Given the description of an element on the screen output the (x, y) to click on. 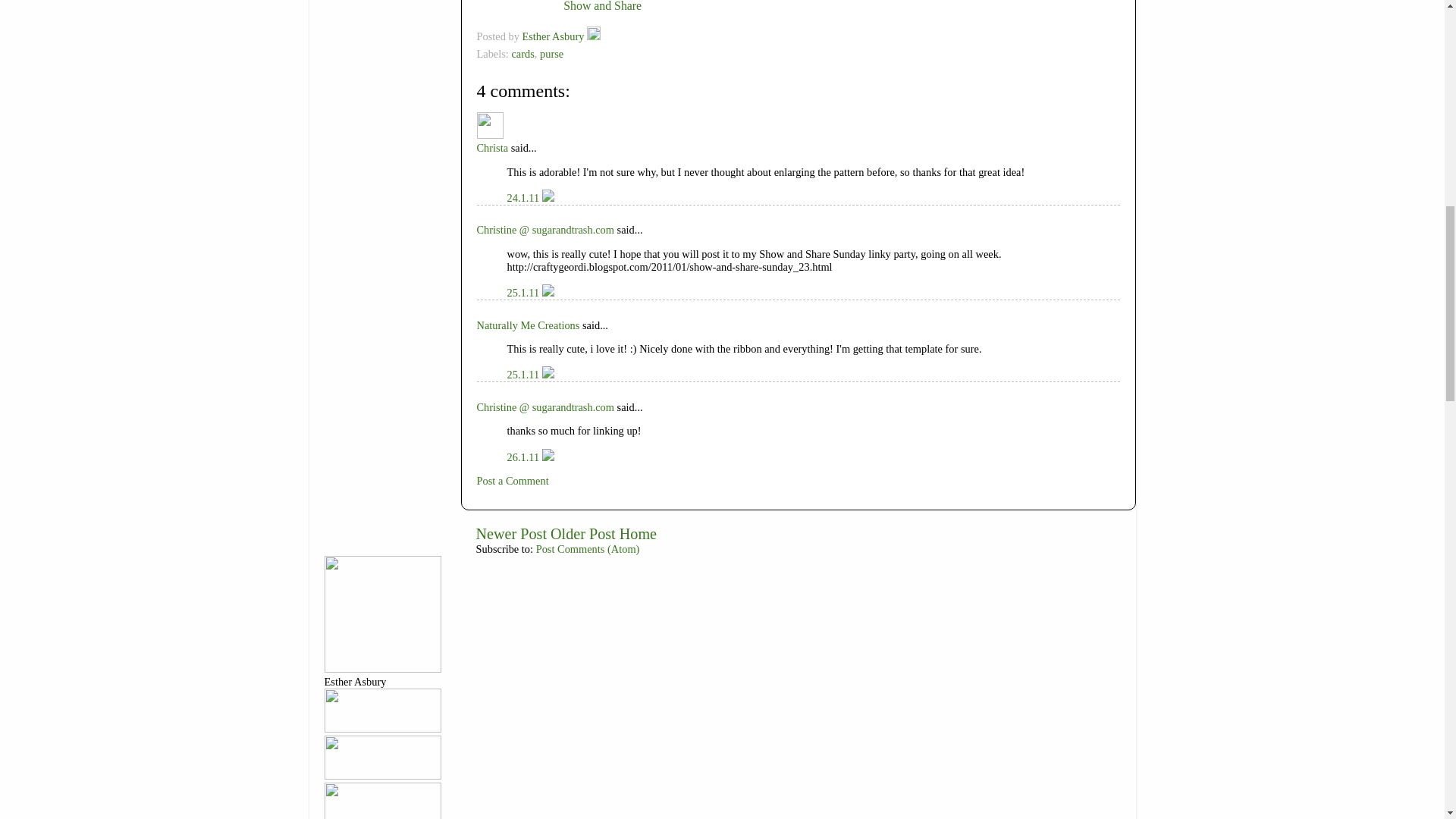
Older Post (582, 533)
comment permalink (523, 457)
26.1.11 (523, 457)
comment permalink (523, 374)
Post a Comment (512, 480)
comment permalink (523, 292)
Newer Post (511, 533)
Naturally Me Creations (527, 325)
Delete Comment (547, 292)
author profile (553, 36)
purse (551, 53)
25.1.11 (523, 292)
Christa (489, 125)
Christa (492, 147)
Delete Comment (547, 197)
